Given the description of an element on the screen output the (x, y) to click on. 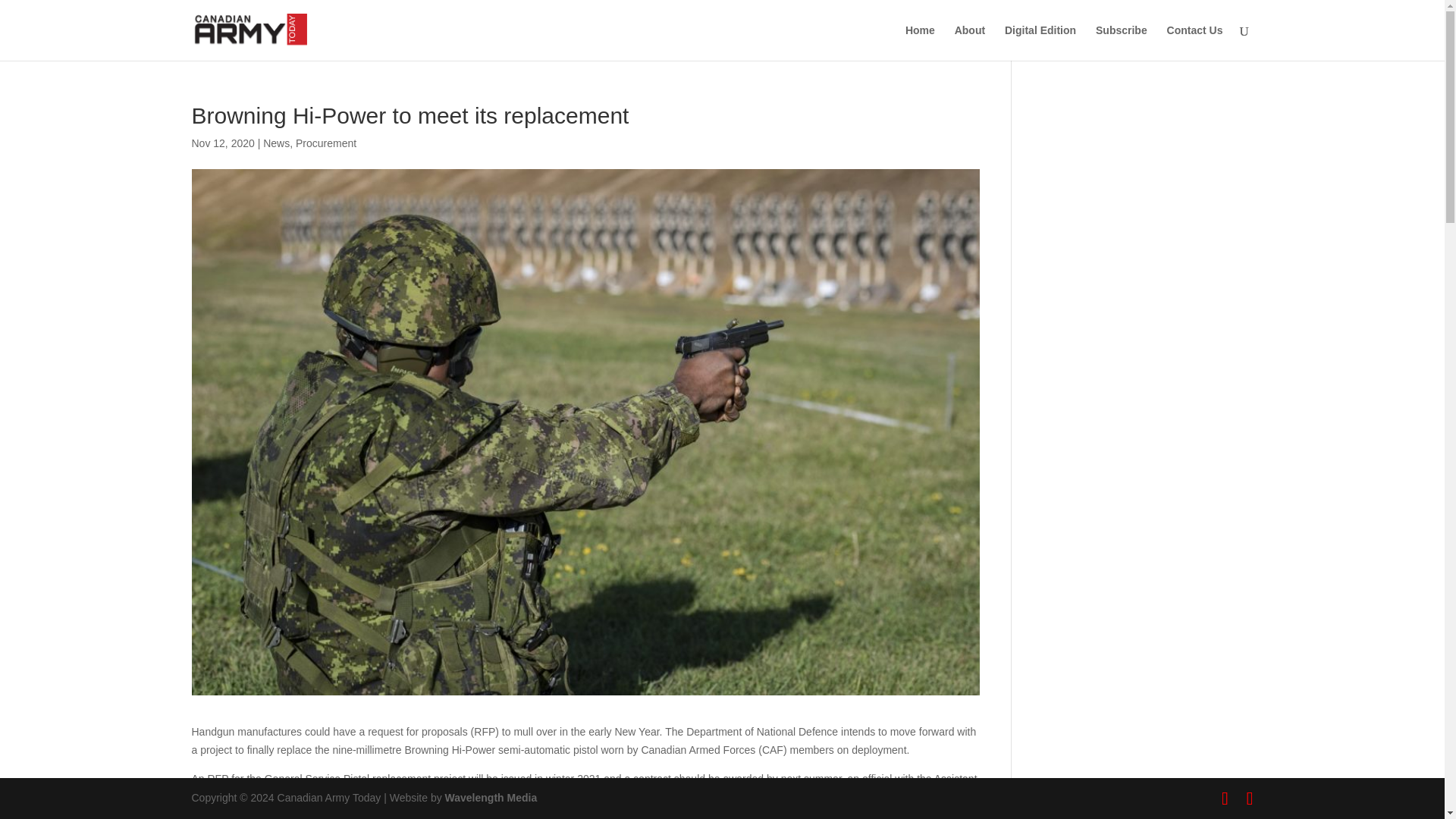
Subscribe (1121, 42)
News (276, 143)
Wavelength Media (491, 797)
Digital Edition (1039, 42)
Procurement (325, 143)
Contact Us (1195, 42)
